Given the description of an element on the screen output the (x, y) to click on. 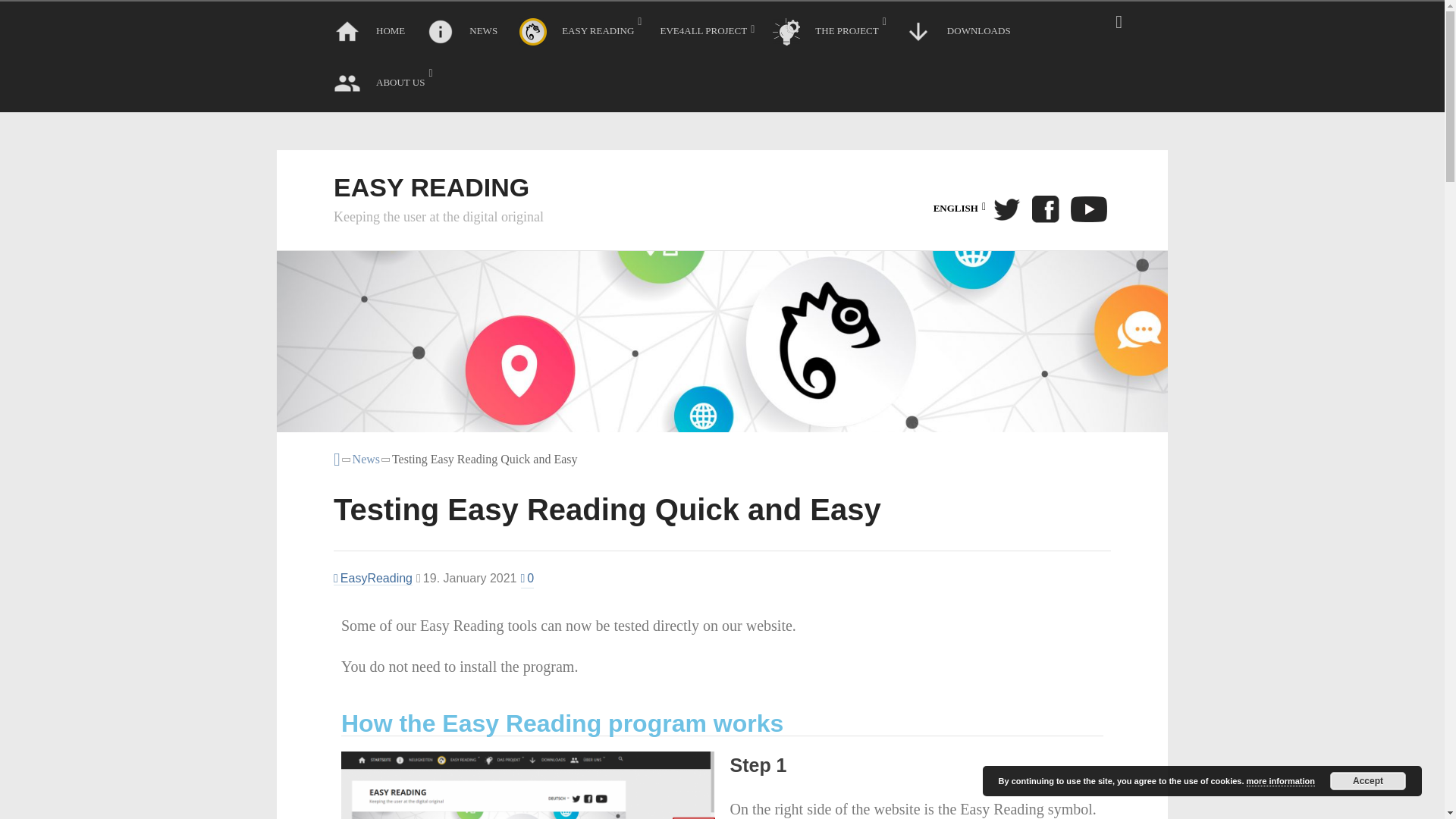
EVE4ALL PROJECT (706, 33)
DOWNLOADS (959, 34)
News (366, 459)
EasyReading (372, 578)
HOME (371, 34)
ENGLISH (959, 207)
EASY READING (580, 34)
ABOUT US (382, 86)
NEWS (463, 34)
Posts by EasyReading (372, 578)
